Given the description of an element on the screen output the (x, y) to click on. 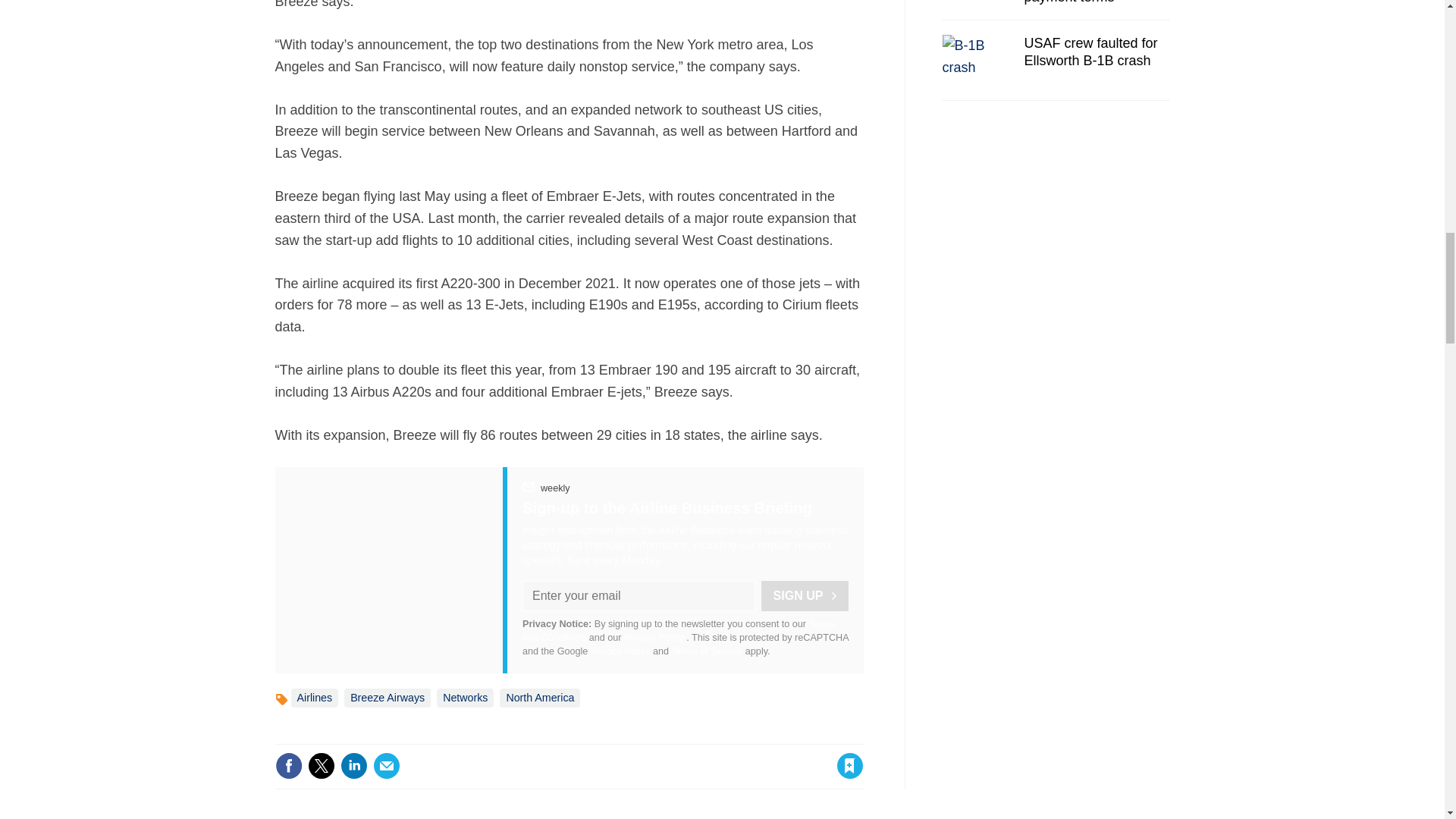
Email this article (386, 765)
Share this on Facebook (288, 765)
Share this on Linked in (352, 765)
Share this on Twitter (320, 765)
